Given the description of an element on the screen output the (x, y) to click on. 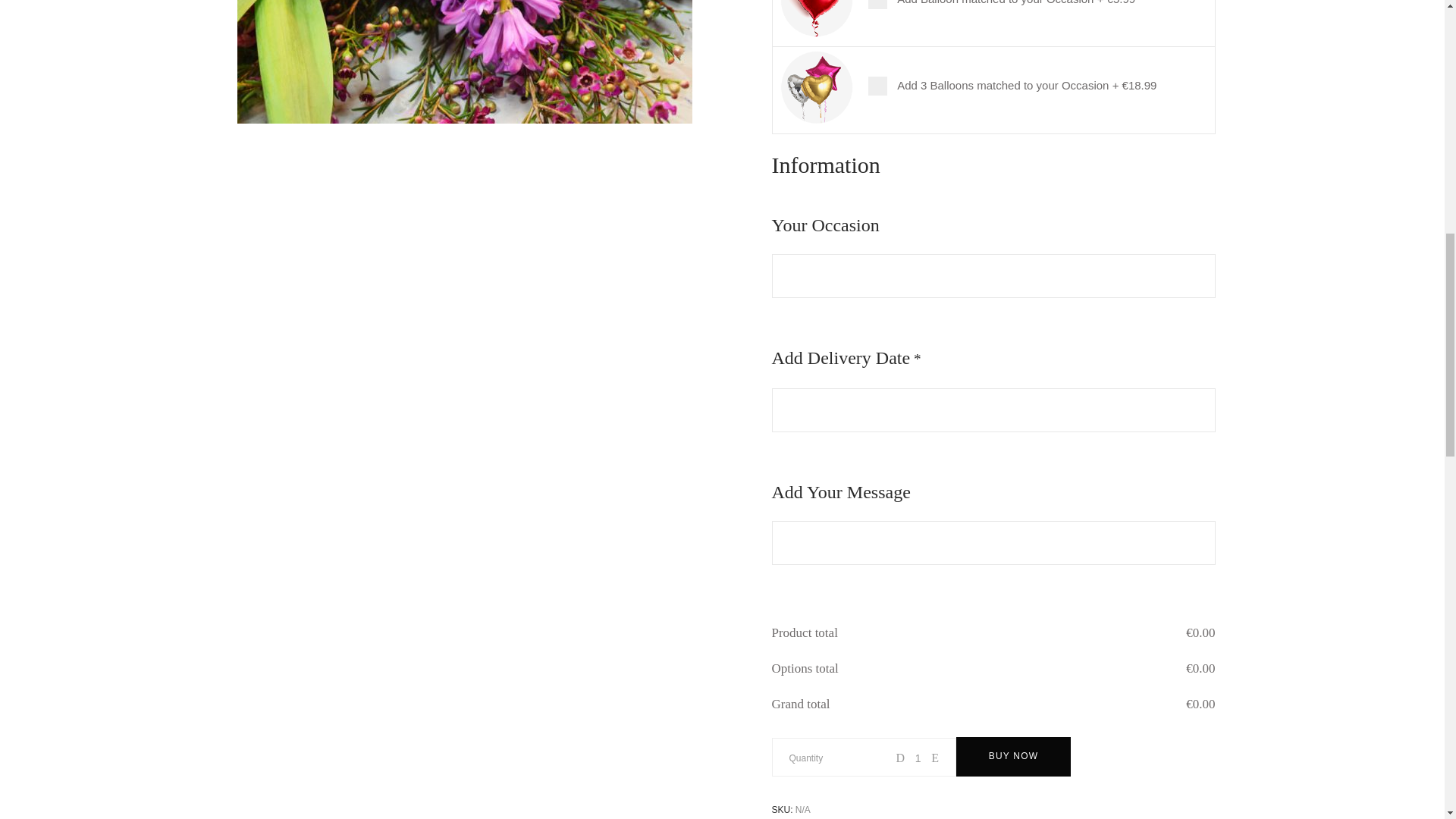
Qty (917, 757)
1 (917, 757)
florist-selection-seasonal-flowers (463, 61)
